Given the description of an element on the screen output the (x, y) to click on. 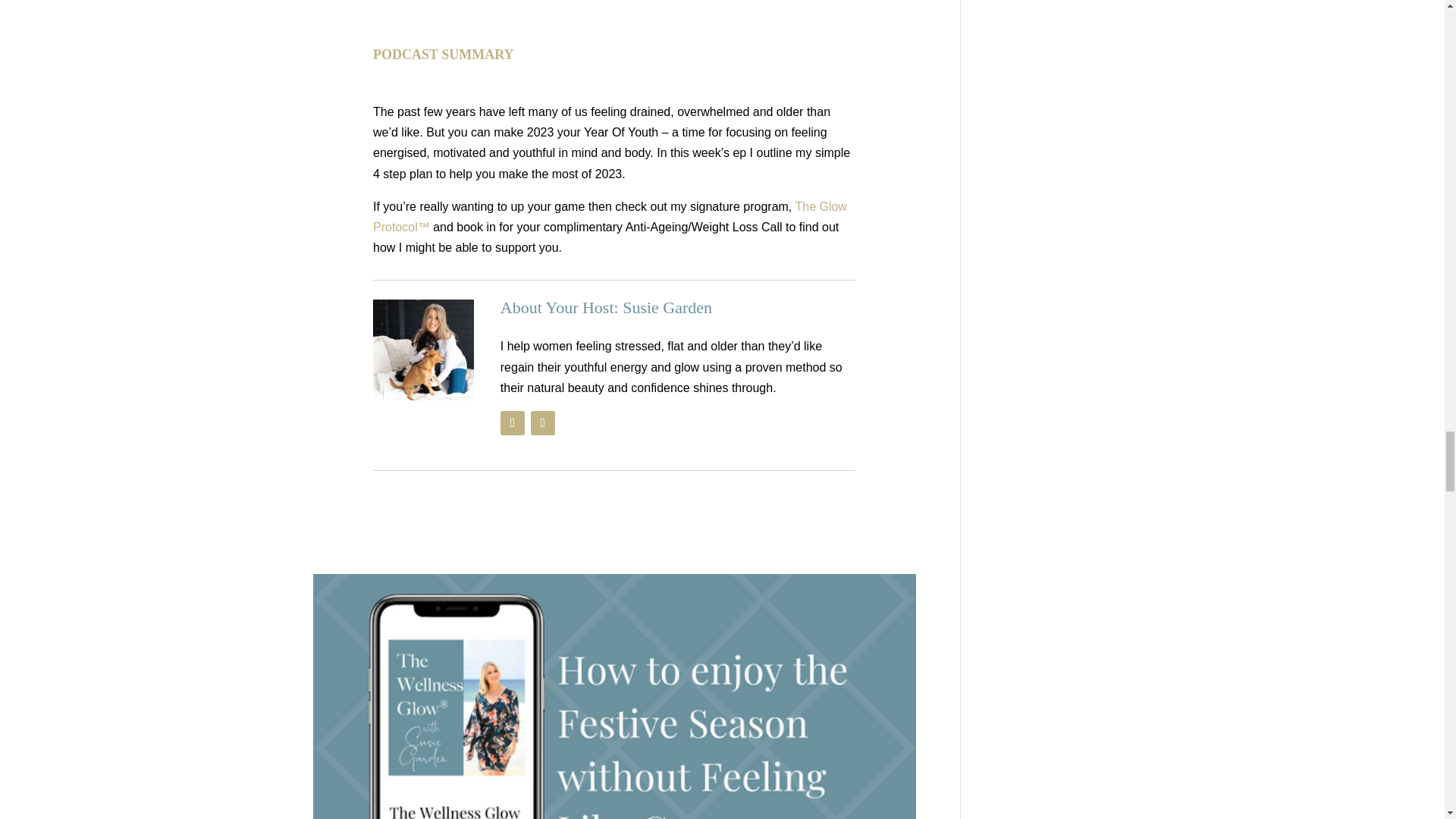
Follow on Facebook (512, 422)
Follow on Instagram (542, 422)
Susie Garden Author (423, 349)
